Given the description of an element on the screen output the (x, y) to click on. 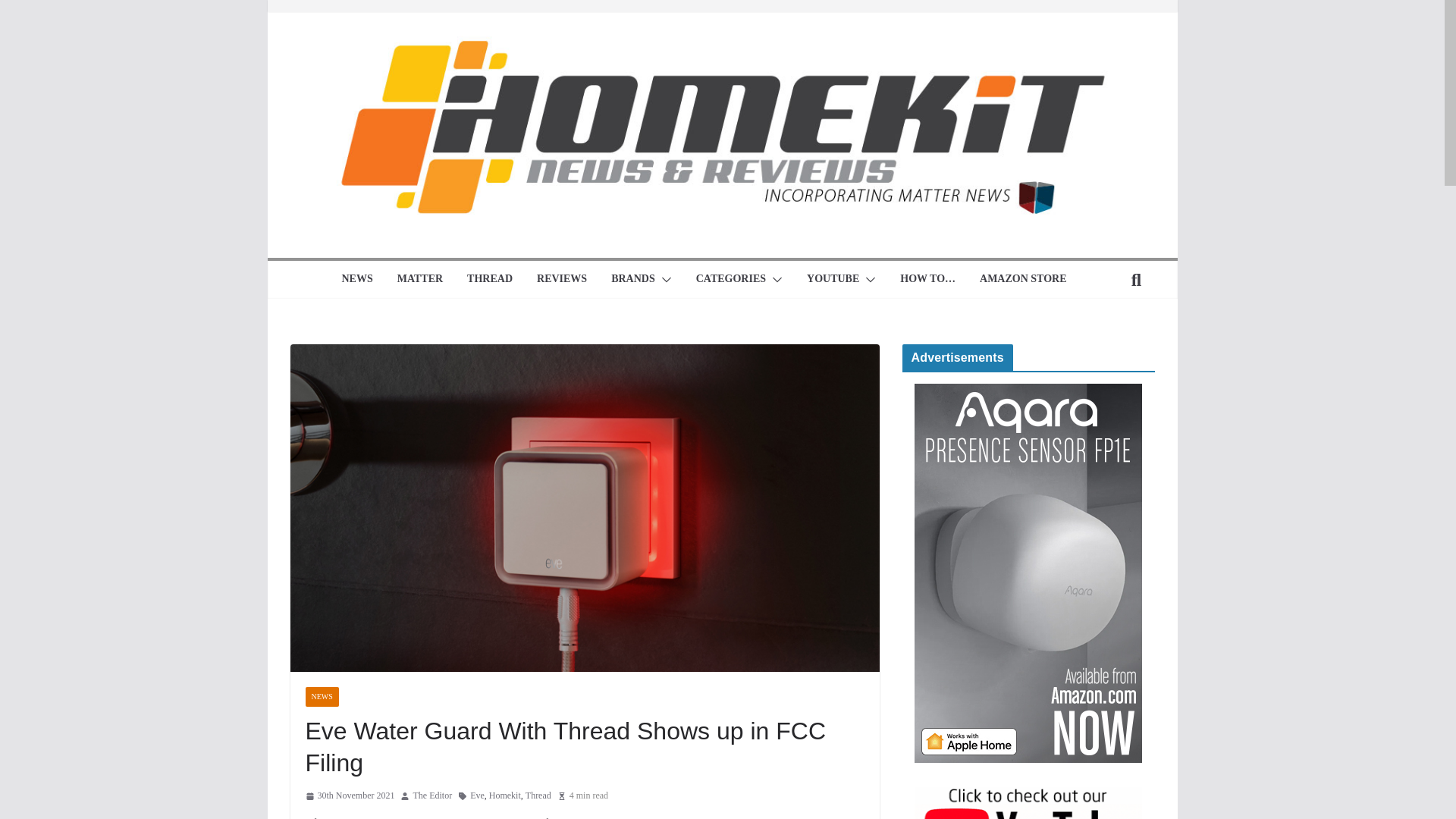
THREAD (489, 279)
MATTER (419, 279)
The Editor (431, 795)
3:45 pm (349, 795)
NEWS (356, 279)
BRANDS (633, 279)
REVIEWS (561, 279)
